Given the description of an element on the screen output the (x, y) to click on. 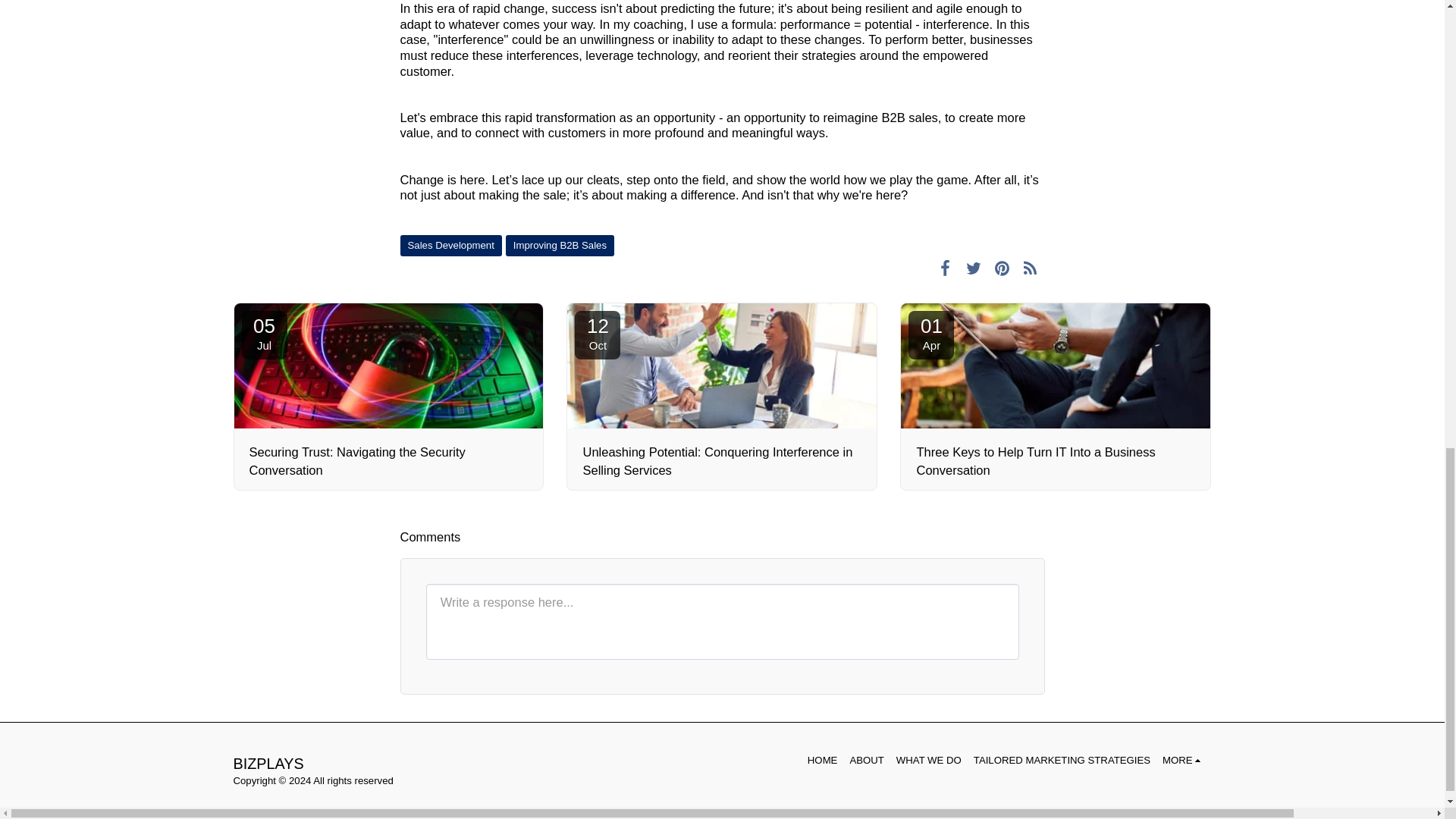
Tweet (263, 335)
Share on Facebook (973, 267)
RSS (945, 267)
Pin it (1029, 267)
Improving B2B Sales (1002, 267)
Sales Development (559, 246)
